Given the description of an element on the screen output the (x, y) to click on. 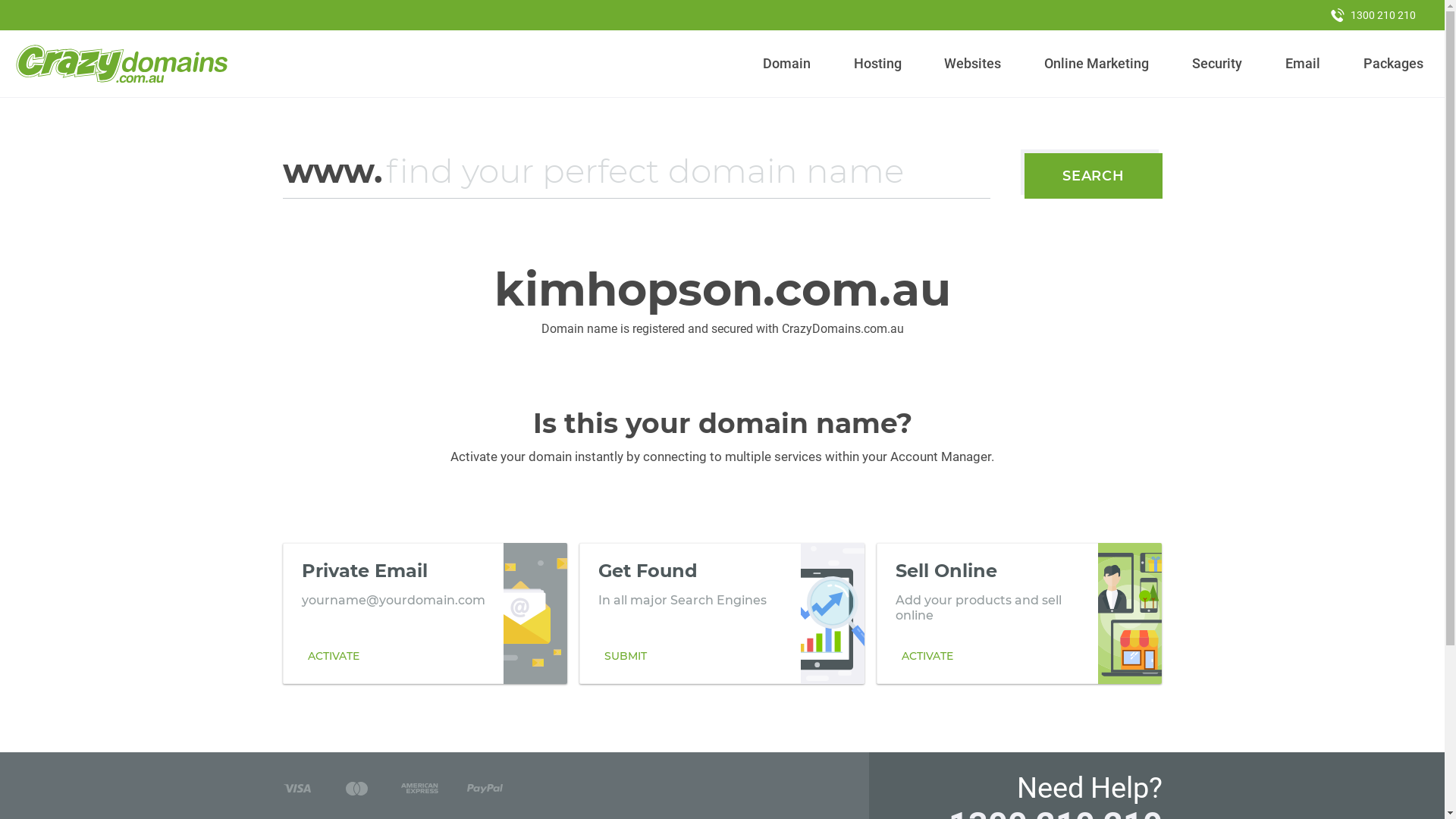
Hosting Element type: text (877, 63)
Email Element type: text (1302, 63)
1300 210 210 Element type: text (1373, 15)
Private Email
yourname@yourdomain.com
ACTIVATE Element type: text (424, 613)
Security Element type: text (1217, 63)
Packages Element type: text (1392, 63)
Online Marketing Element type: text (1096, 63)
Domain Element type: text (786, 63)
SEARCH Element type: text (1092, 175)
Get Found
In all major Search Engines
SUBMIT Element type: text (721, 613)
Sell Online
Add your products and sell online
ACTIVATE Element type: text (1018, 613)
Websites Element type: text (972, 63)
